Given the description of an element on the screen output the (x, y) to click on. 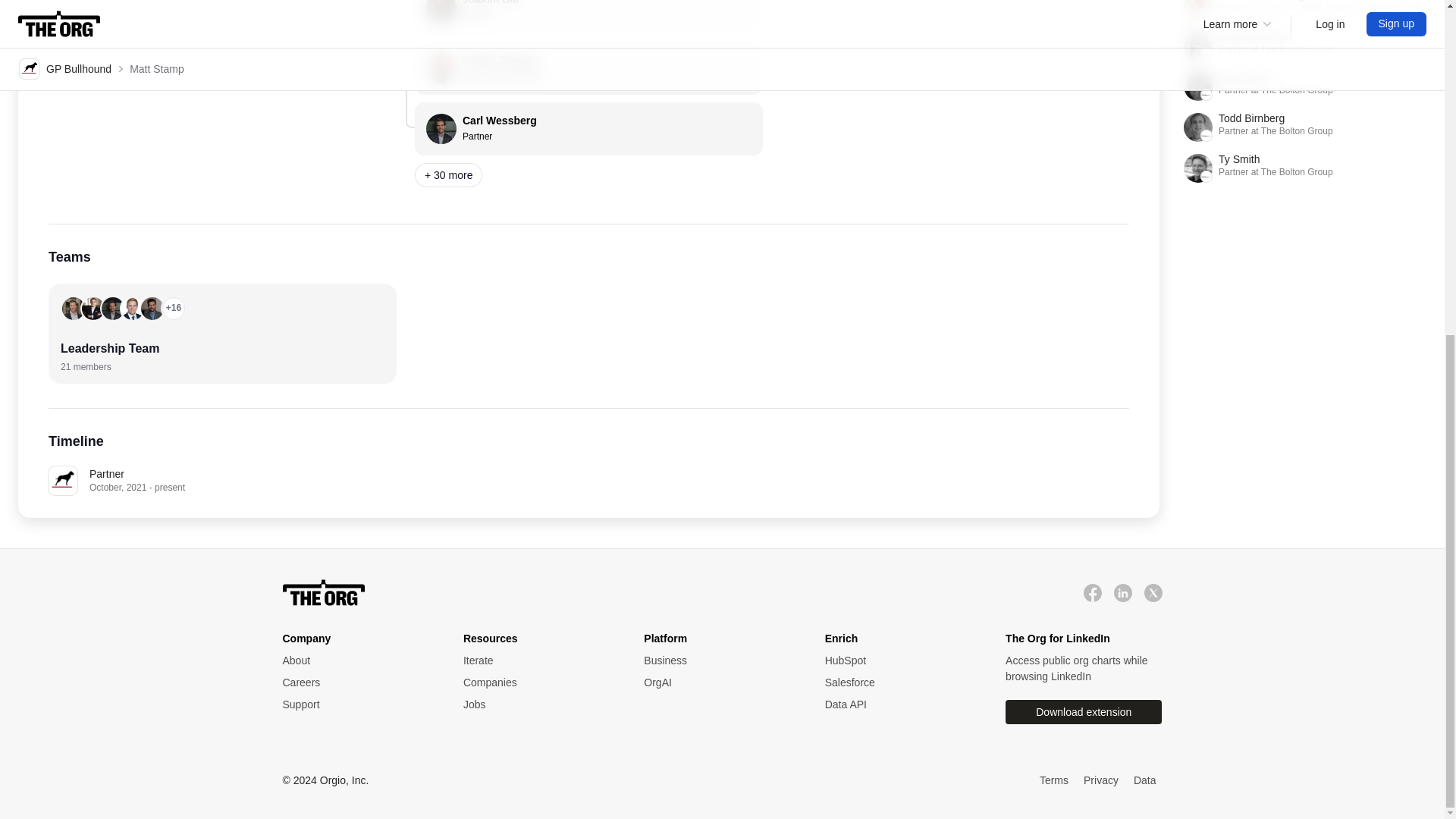
Jobs (537, 704)
Companies (537, 682)
Companies (1304, 86)
Business (537, 682)
About (718, 660)
Iterate (357, 660)
Jobs (537, 660)
Facebook (588, 128)
Careers (537, 704)
Business (1091, 592)
Careers (357, 682)
Support (718, 660)
